Given the description of an element on the screen output the (x, y) to click on. 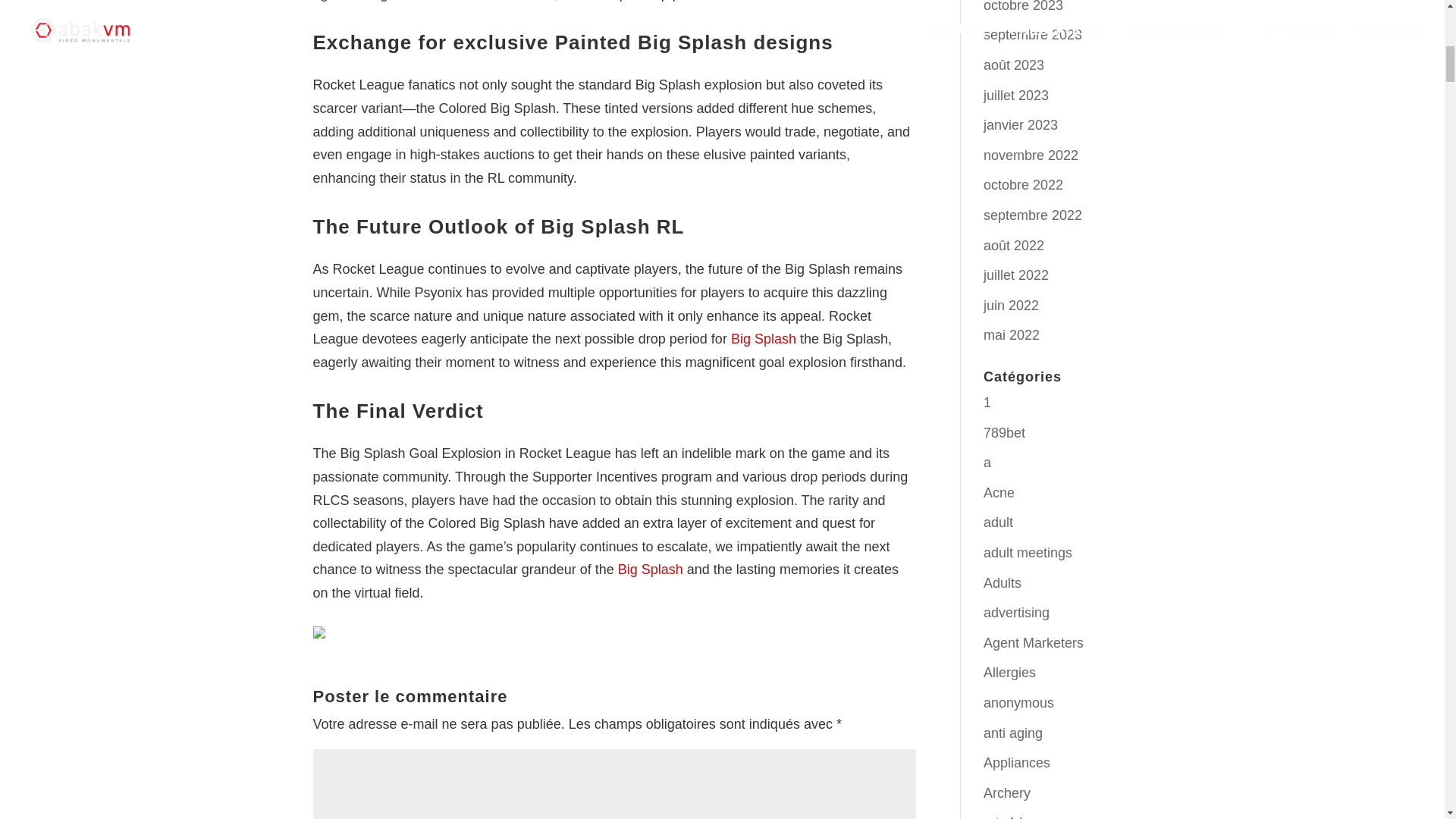
octobre 2023 (1023, 6)
Big Splash (763, 338)
septembre 2023 (1032, 34)
Big Splash (649, 569)
